Given the description of an element on the screen output the (x, y) to click on. 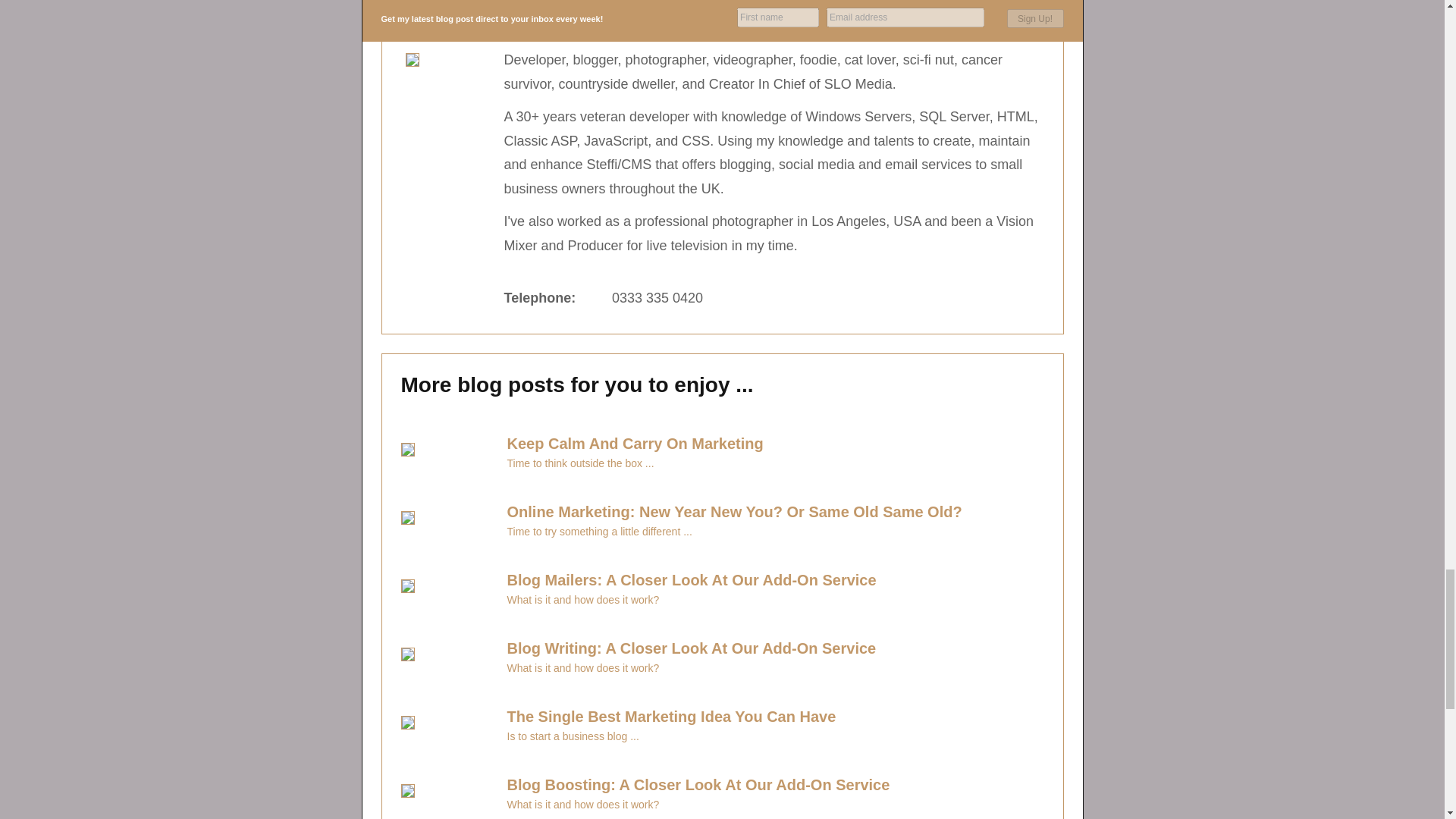
What is it and how does it work? (567, 667)
Click here to view read this blog post (564, 463)
Blog Boosting: A Closer Look At Our Add-On Service (682, 784)
Is to start a business blog ... (557, 736)
What is it and how does it work? (567, 599)
What is it and how does it work? (567, 804)
Click here to read this blog post (676, 579)
Blog Mailers: A Closer Look At Our Add-On Service (676, 579)
Blog Writing: A Closer Look At Our Add-On Service (676, 647)
Time to think outside the box ... (564, 463)
